Given the description of an element on the screen output the (x, y) to click on. 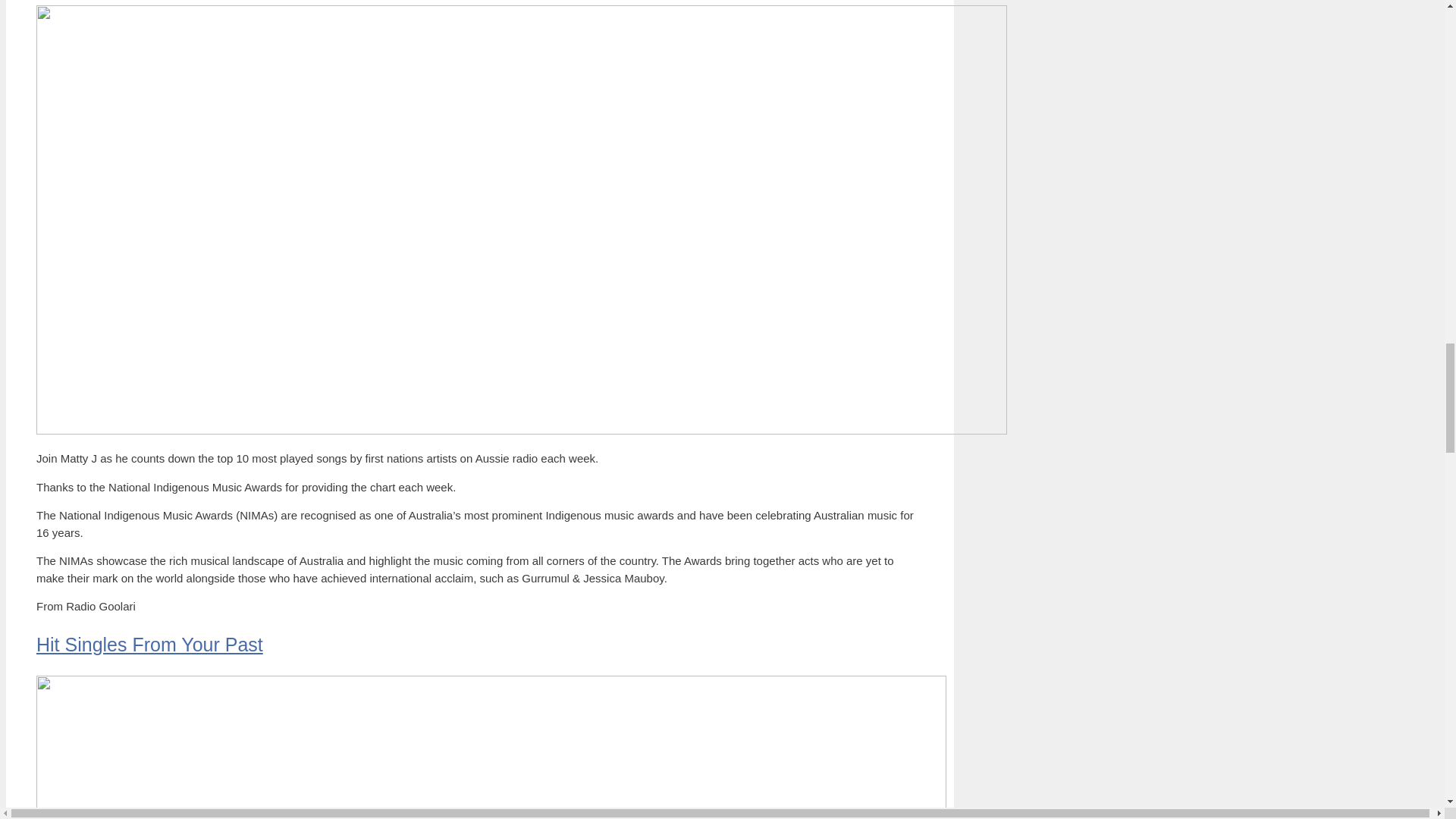
Hit Singles From Your Past (149, 644)
